Given the description of an element on the screen output the (x, y) to click on. 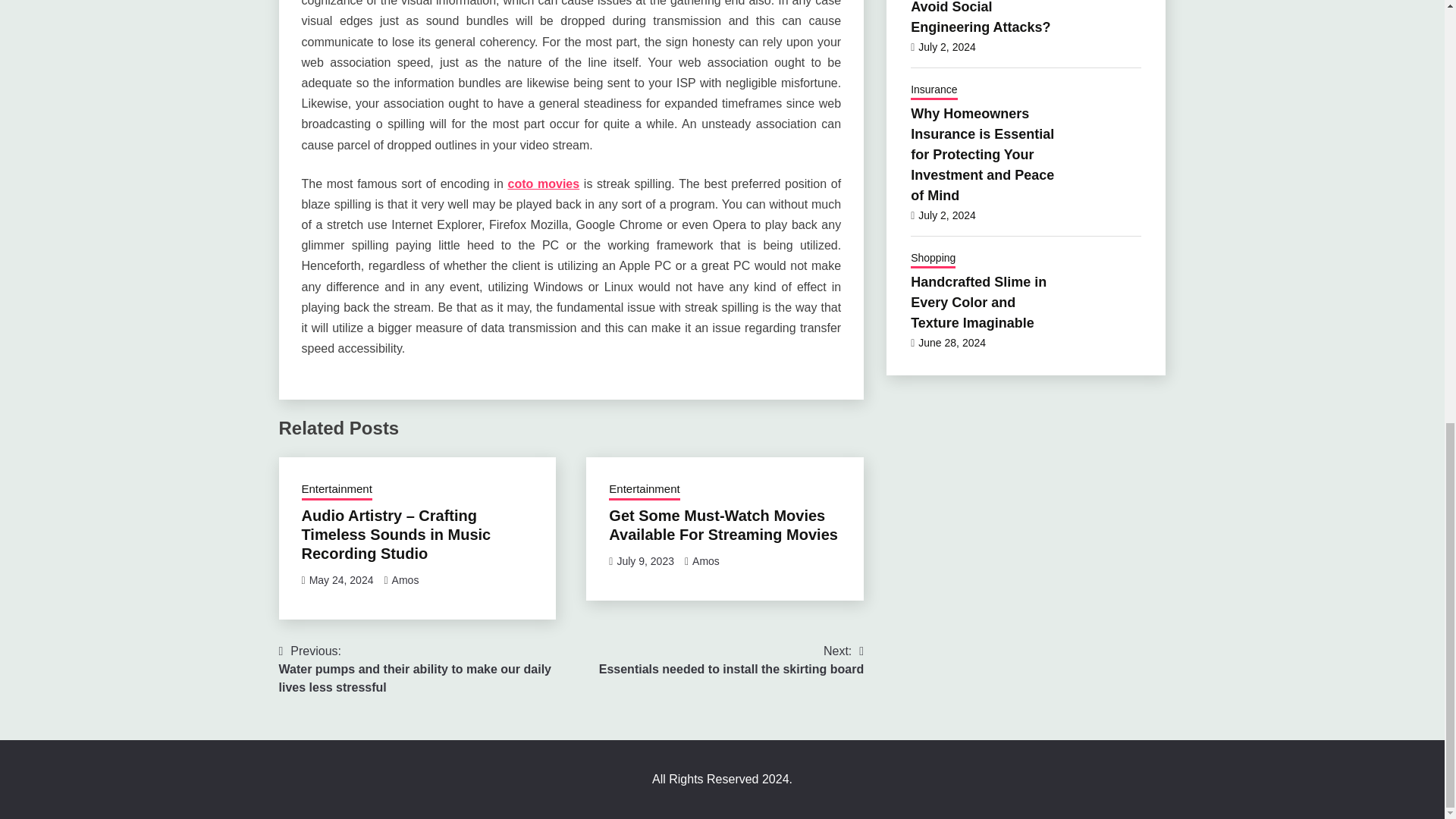
Entertainment (643, 490)
July 9, 2023 (730, 660)
Amos (644, 561)
Amos (706, 561)
May 24, 2024 (405, 580)
Entertainment (341, 580)
Get Some Must-Watch Movies Available For Streaming Movies (336, 490)
coto movies (723, 524)
